Given the description of an element on the screen output the (x, y) to click on. 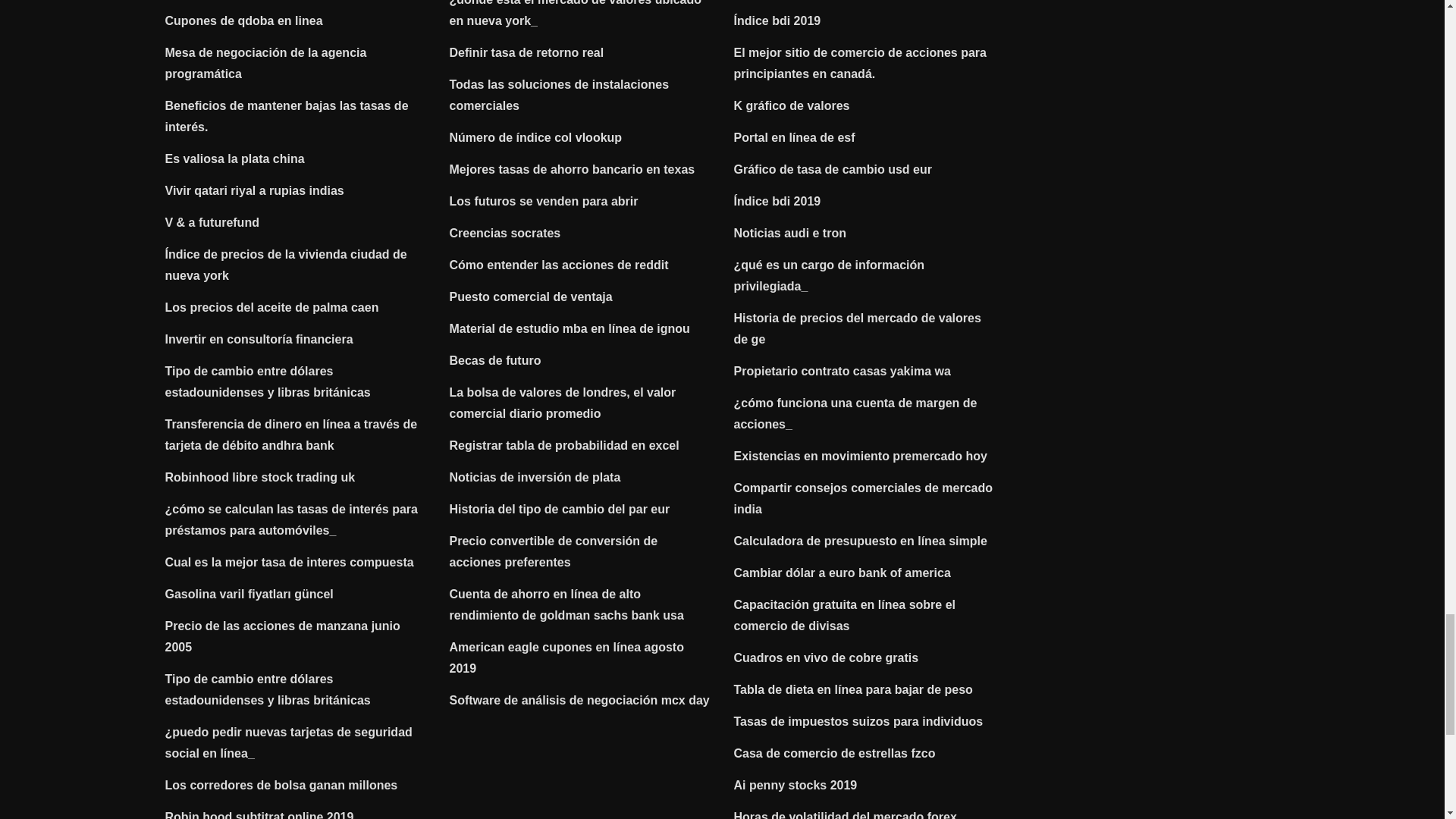
Los precios del aceite de palma caen (271, 307)
Es valiosa la plata china (234, 158)
Cupones de qdoba en linea (244, 20)
Vivir qatari riyal a rupias indias (254, 190)
